Given the description of an element on the screen output the (x, y) to click on. 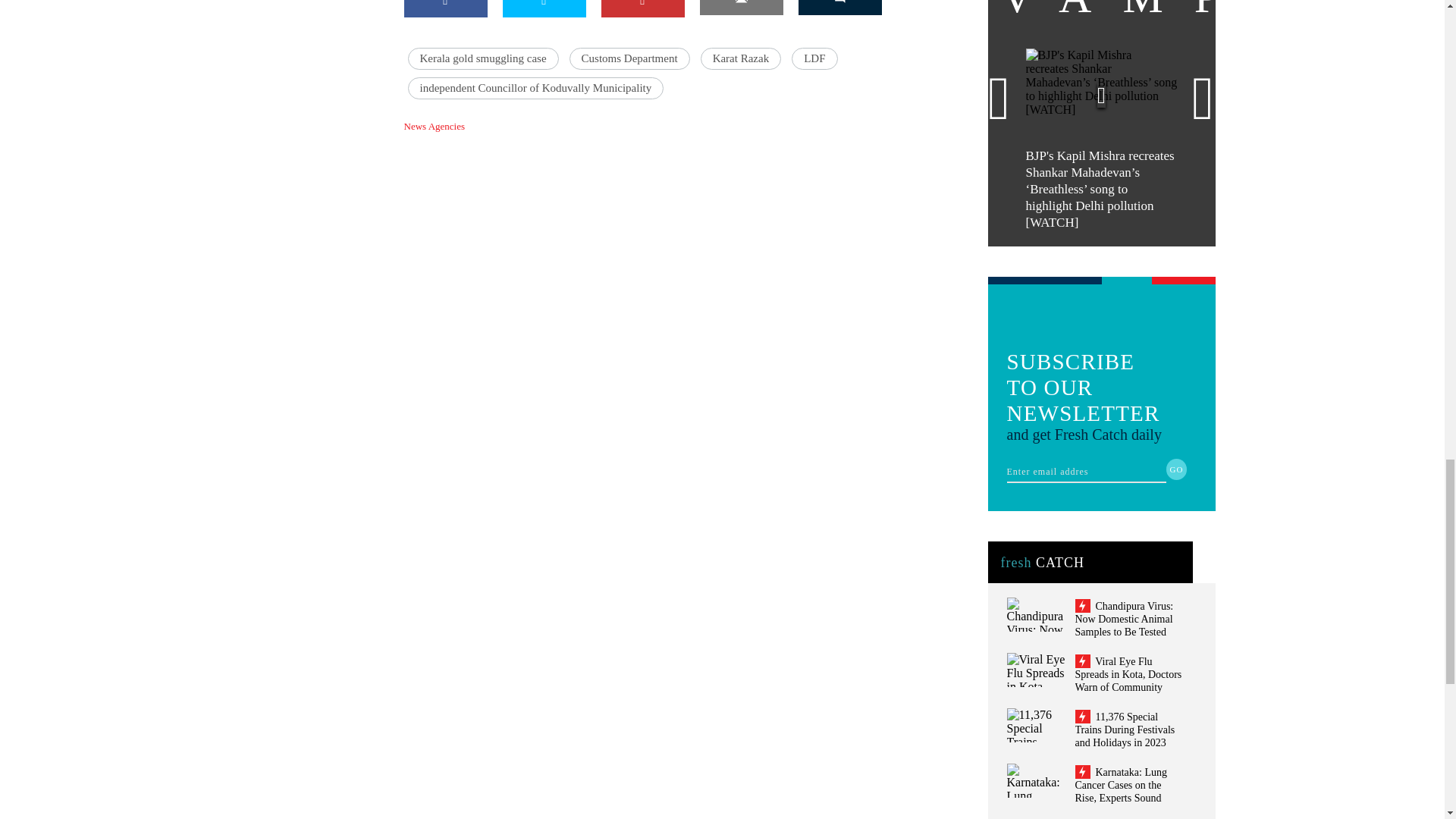
 independent Councillor of Koduvally Municipality (535, 87)
Kerala gold smuggling case (483, 58)
GO (1177, 468)
 Karat Razak (740, 58)
LDF (814, 58)
Customs Department (629, 58)
